Given the description of an element on the screen output the (x, y) to click on. 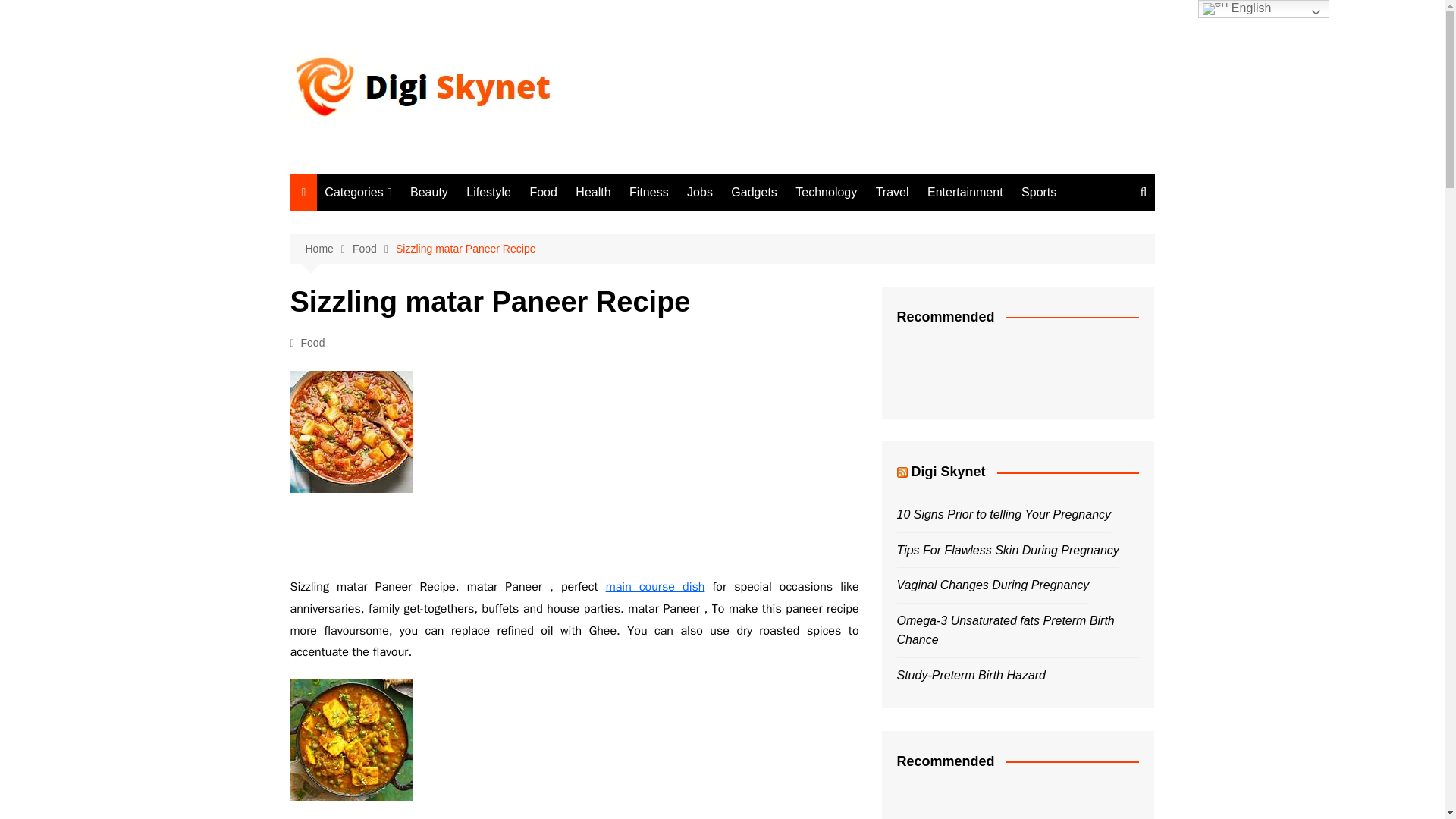
Beauty (400, 222)
Beauty (429, 192)
Food (312, 342)
Technology (825, 192)
Make Money Online (400, 548)
Gadgets (400, 398)
Food (542, 192)
Pets (400, 523)
Health (400, 298)
Lifestyle (400, 248)
